Given the description of an element on the screen output the (x, y) to click on. 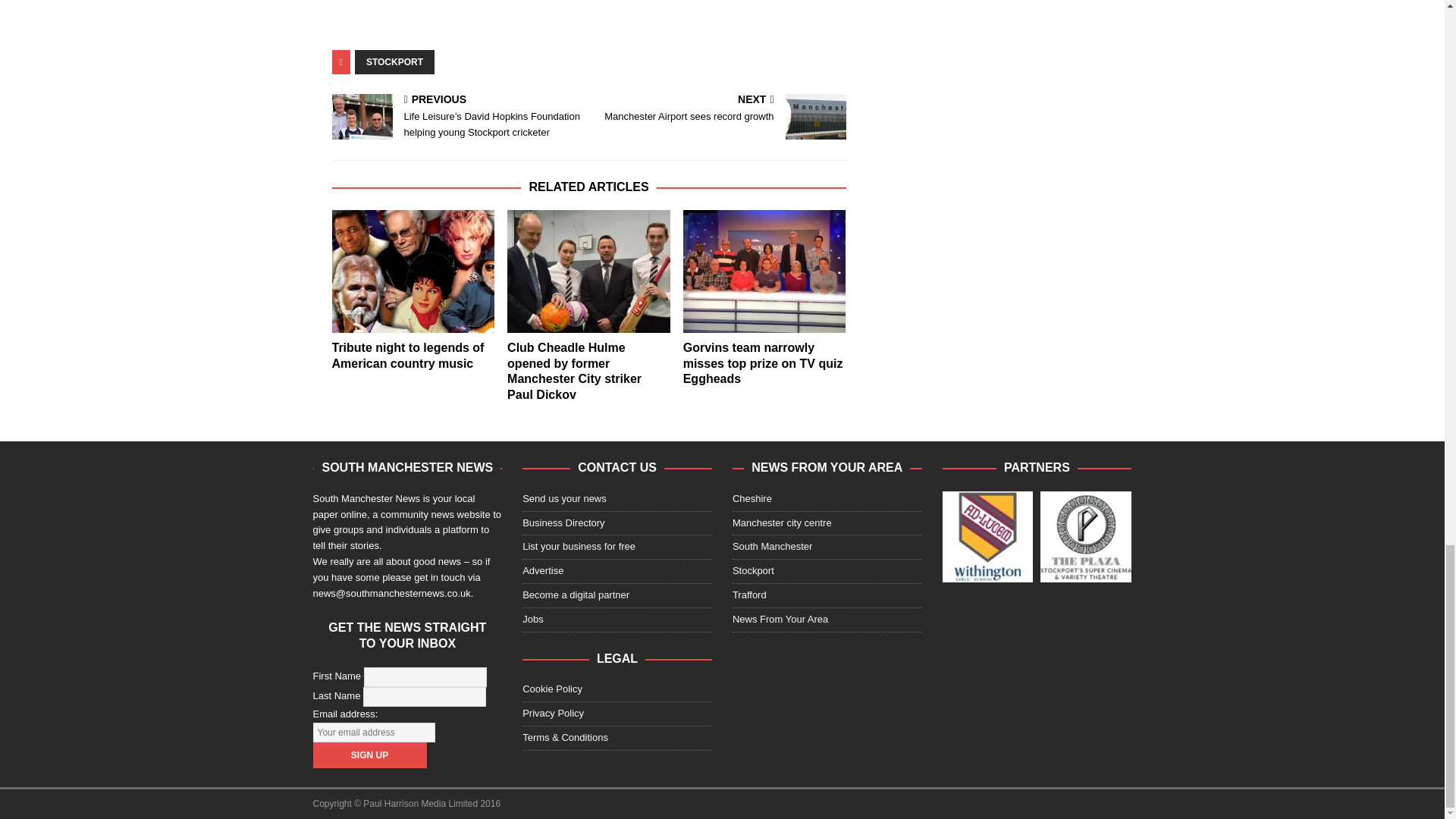
Sign up (369, 755)
